Given the description of an element on the screen output the (x, y) to click on. 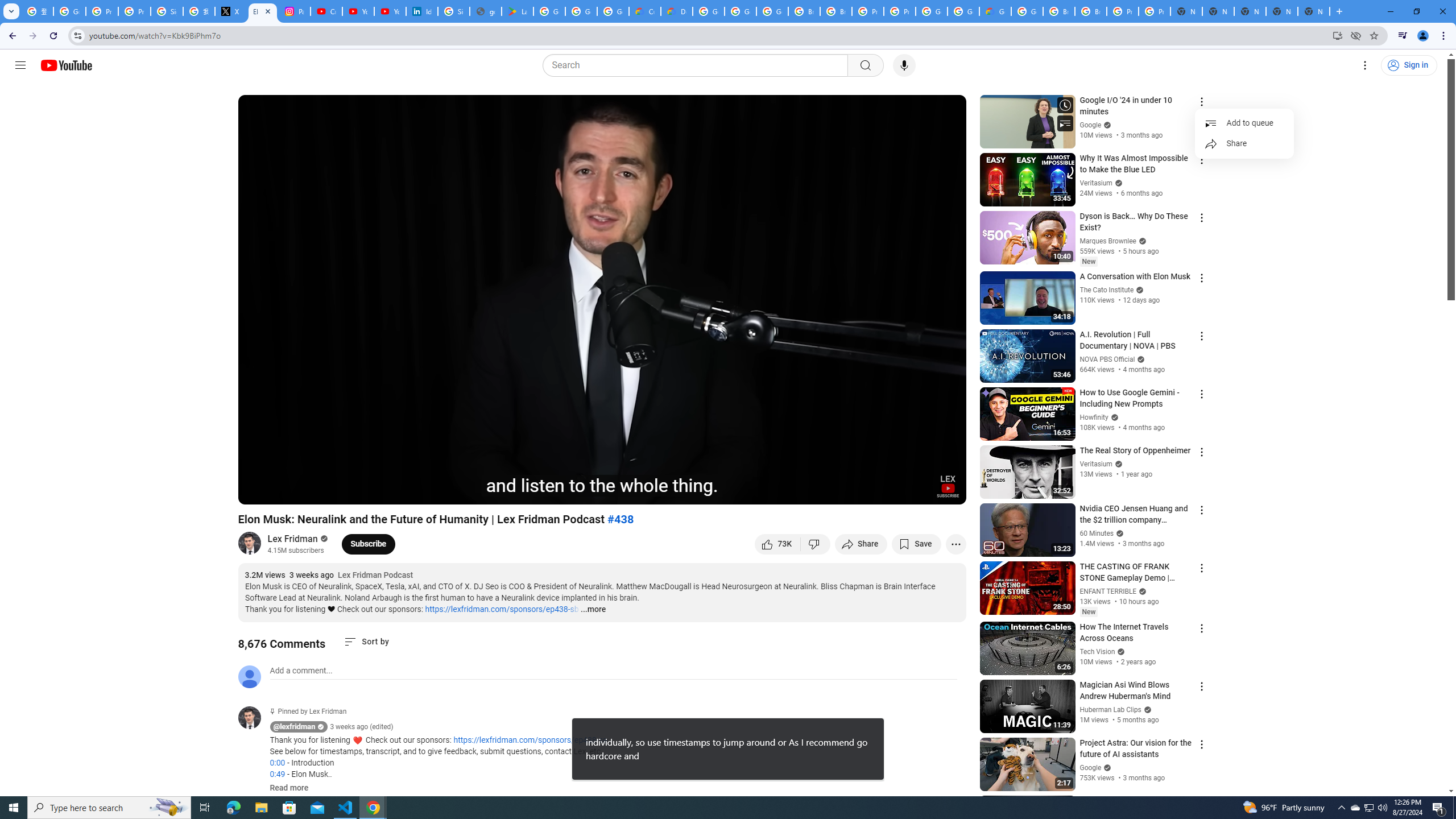
Last Shelter: Survival - Apps on Google Play (517, 11)
@lexfridman (294, 726)
Search with your voice (903, 65)
Settings (863, 490)
#438 (620, 519)
...more (592, 609)
Add to queue (1243, 123)
Lex Fridman Podcast (375, 575)
Channel watermark (947, 486)
Share (1243, 143)
